Given the description of an element on the screen output the (x, y) to click on. 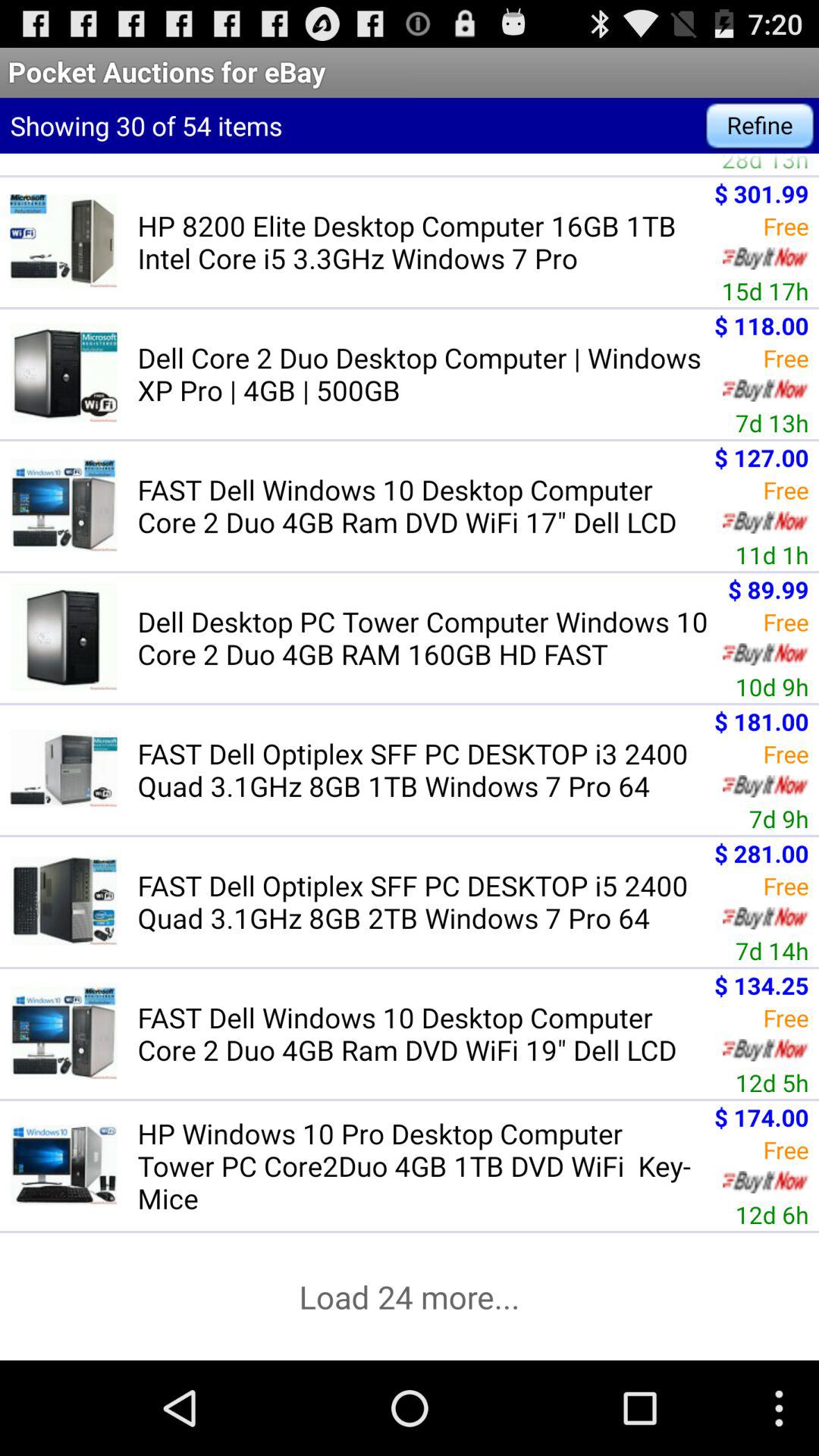
turn off the icon to the right of the hp elite 8200 (764, 164)
